Given the description of an element on the screen output the (x, y) to click on. 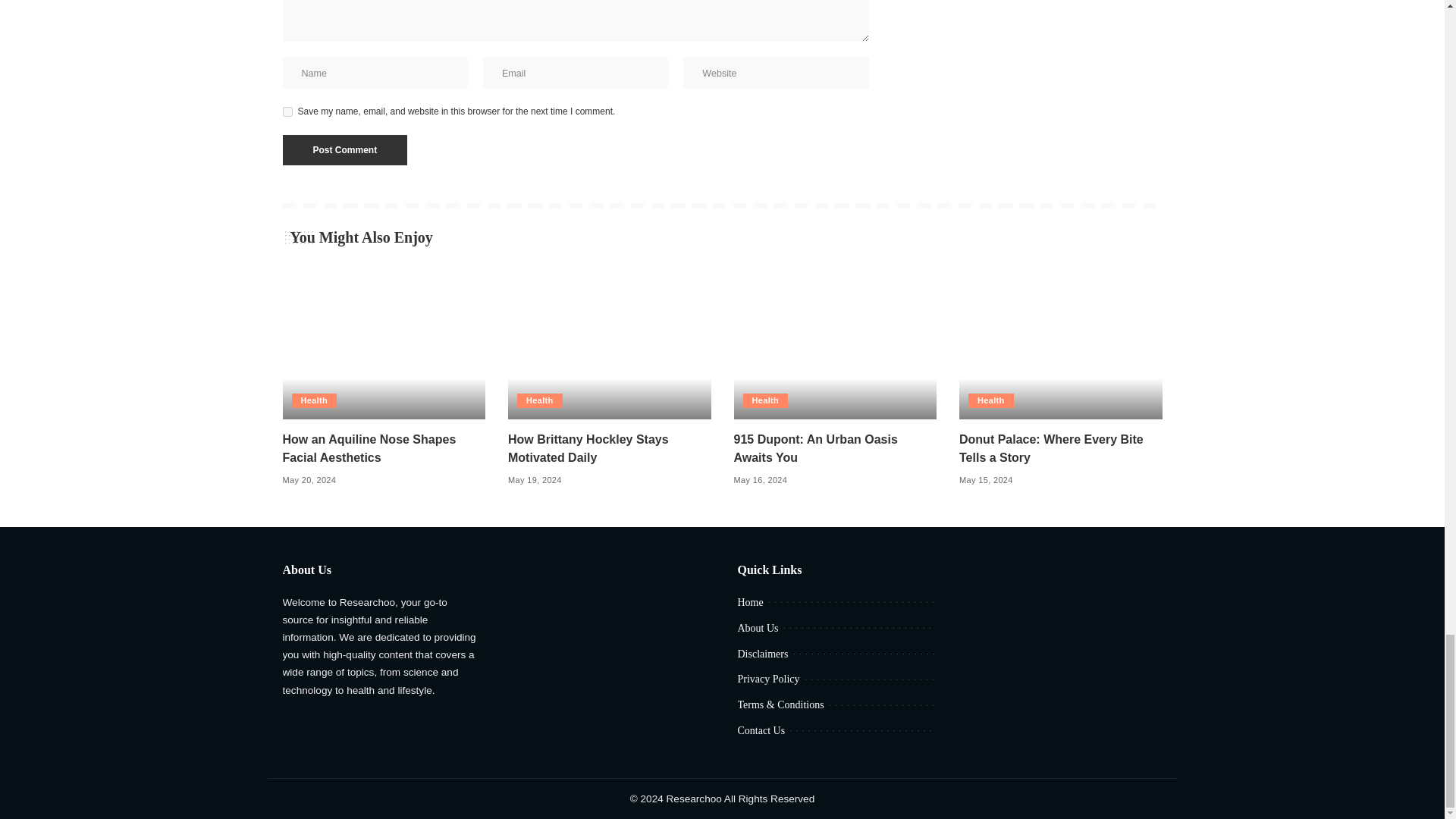
Post Comment (344, 150)
yes (287, 112)
